Given the description of an element on the screen output the (x, y) to click on. 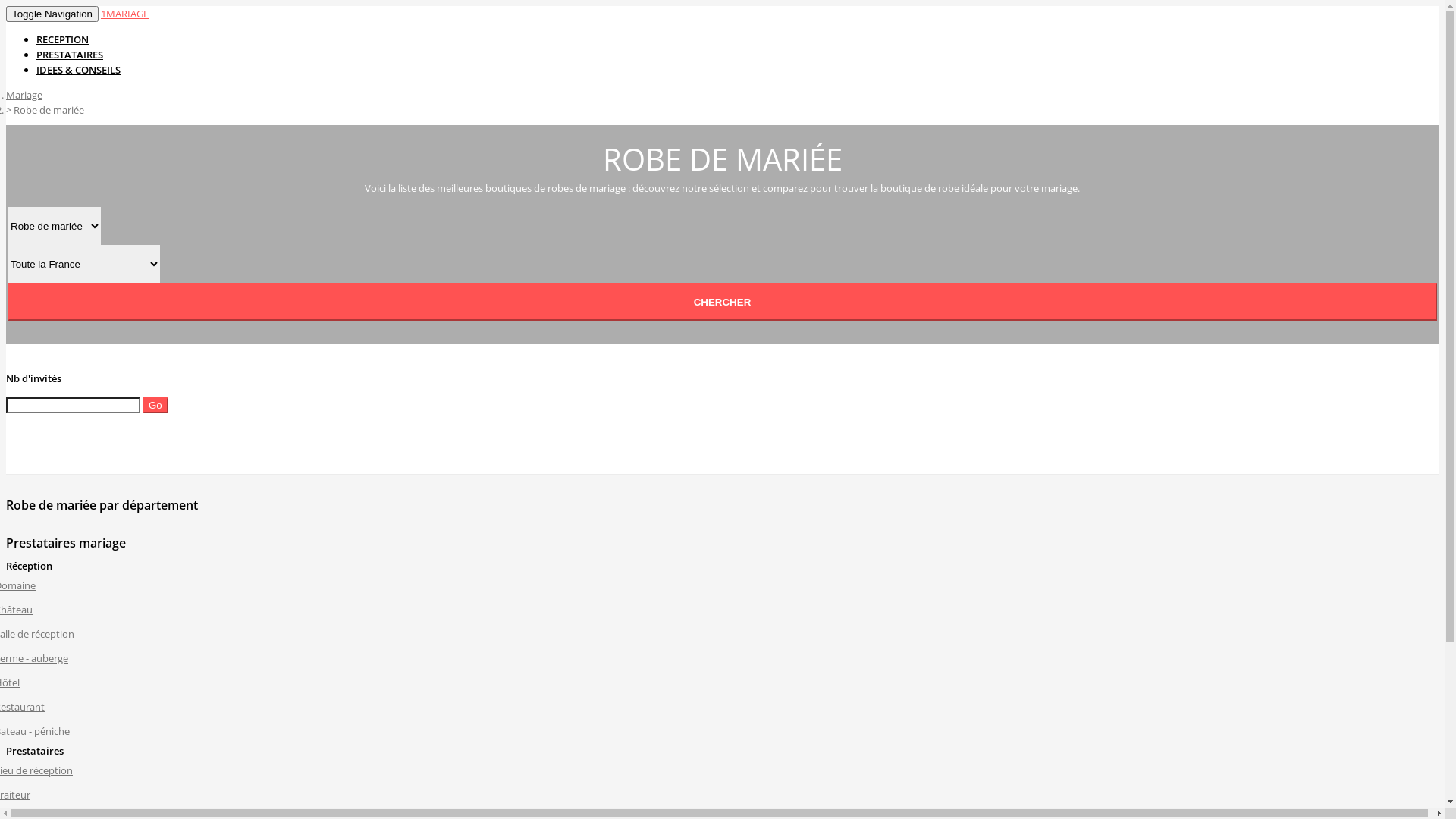
RECEPTION Element type: text (62, 39)
Toggle Navigation Element type: text (52, 13)
IDEES & CONSEILS Element type: text (78, 69)
Go Element type: text (155, 405)
PRESTATAIRES Element type: text (69, 54)
1MARIAGE Element type: text (124, 13)
Mariage Element type: text (24, 94)
CHERCHER Element type: text (722, 301)
